Given the description of an element on the screen output the (x, y) to click on. 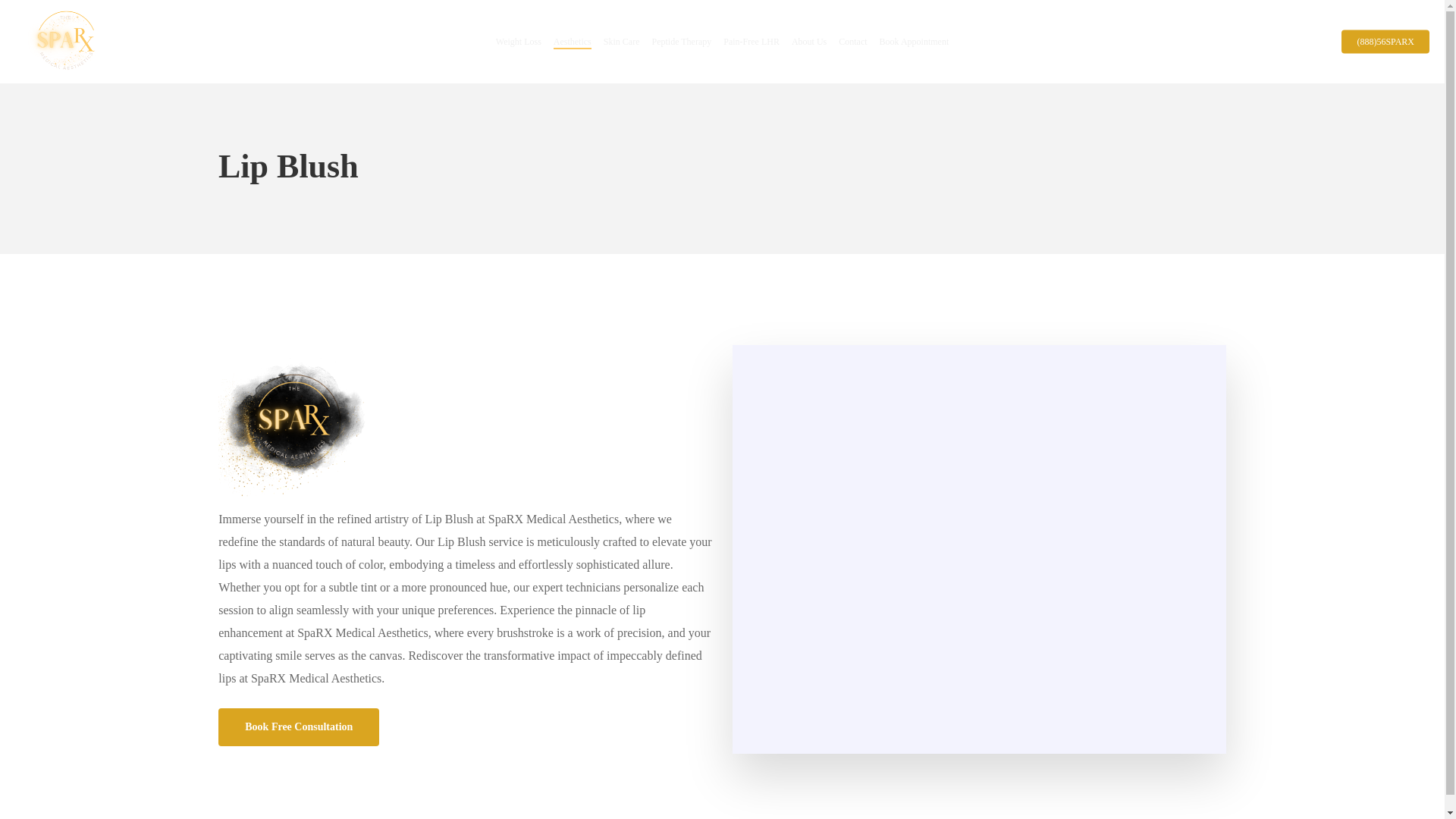
Weight Loss (518, 42)
Aesthetics (572, 42)
Peptide Therapy (680, 42)
Skin Care (622, 42)
